Given the description of an element on the screen output the (x, y) to click on. 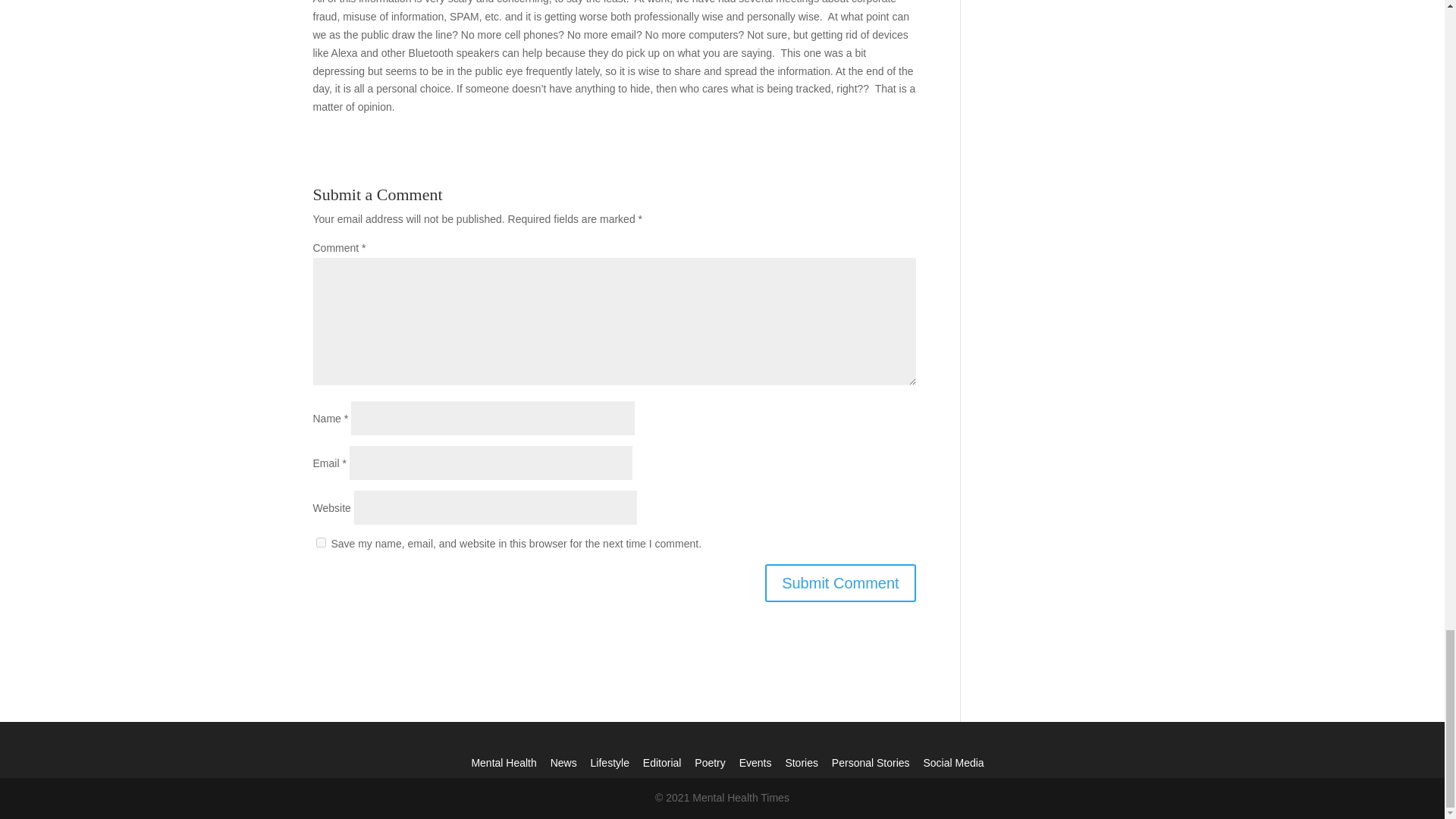
Submit Comment (840, 582)
yes (319, 542)
Mental Health (502, 762)
News (563, 762)
Submit Comment (840, 582)
